Given the description of an element on the screen output the (x, y) to click on. 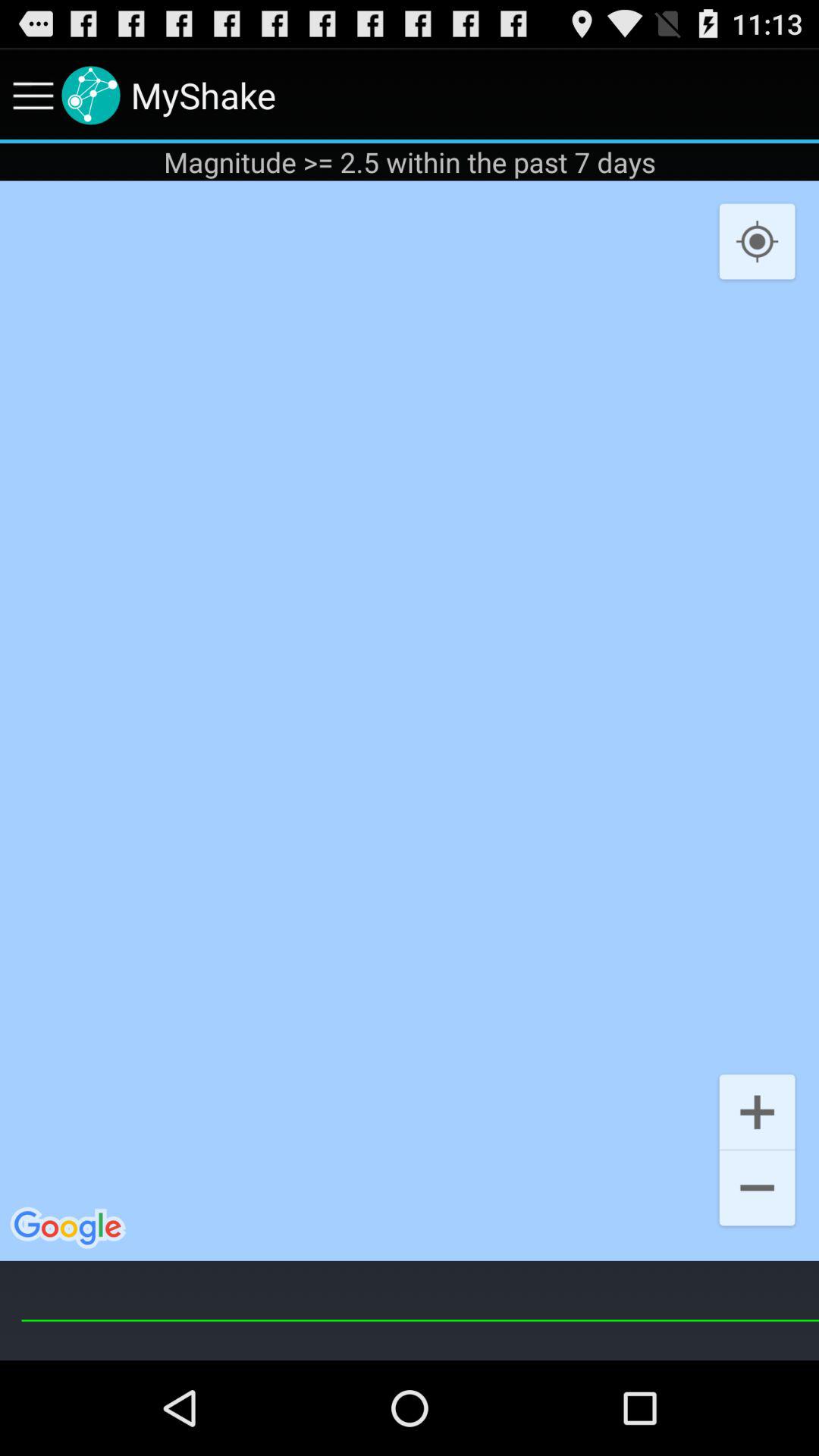
open the app below magnitude 2 5 (757, 242)
